Given the description of an element on the screen output the (x, y) to click on. 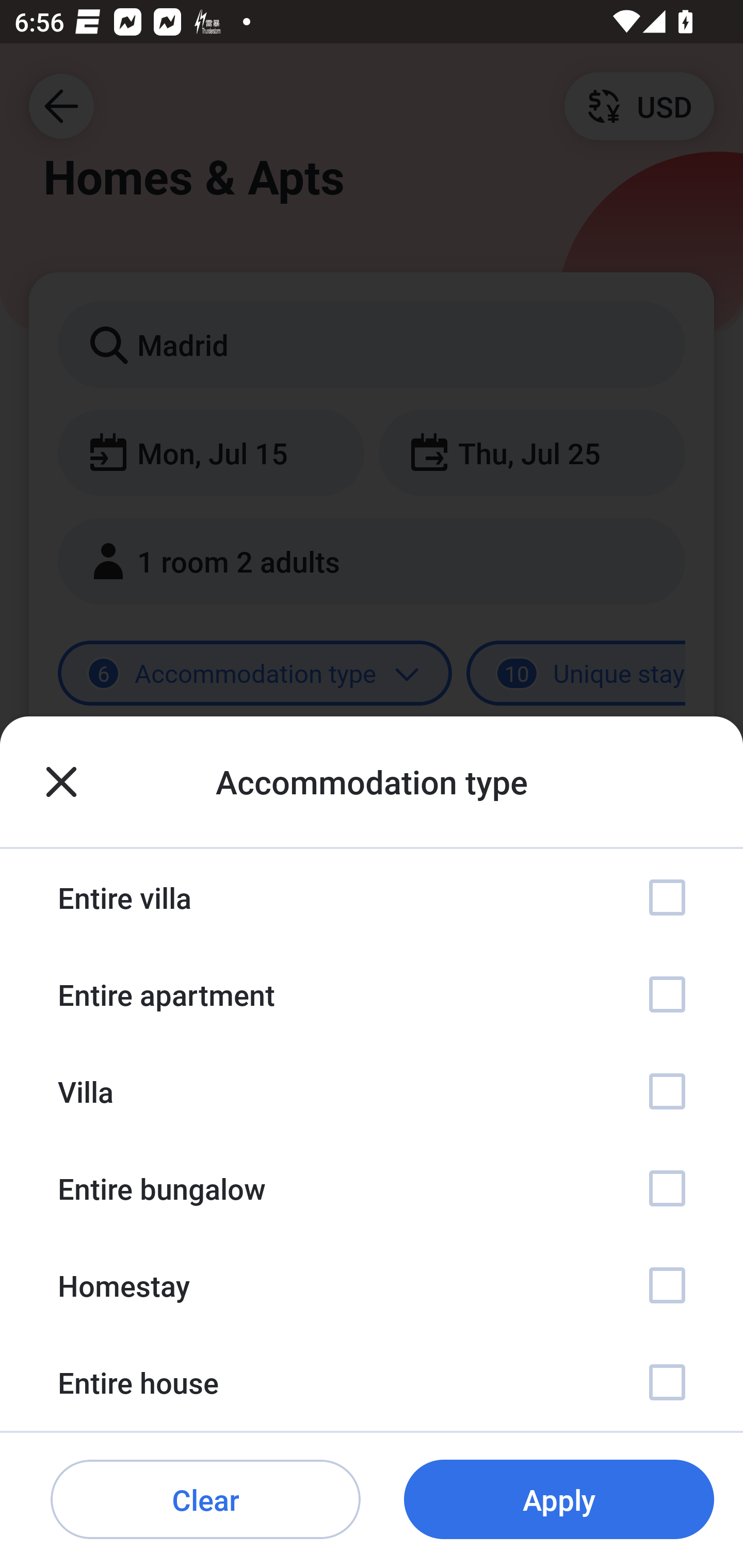
Entire villa (371, 897)
Entire apartment (371, 994)
Villa (371, 1091)
Entire bungalow (371, 1188)
Homestay (371, 1284)
Entire house (371, 1382)
Clear (205, 1499)
Apply (559, 1499)
